Given the description of an element on the screen output the (x, y) to click on. 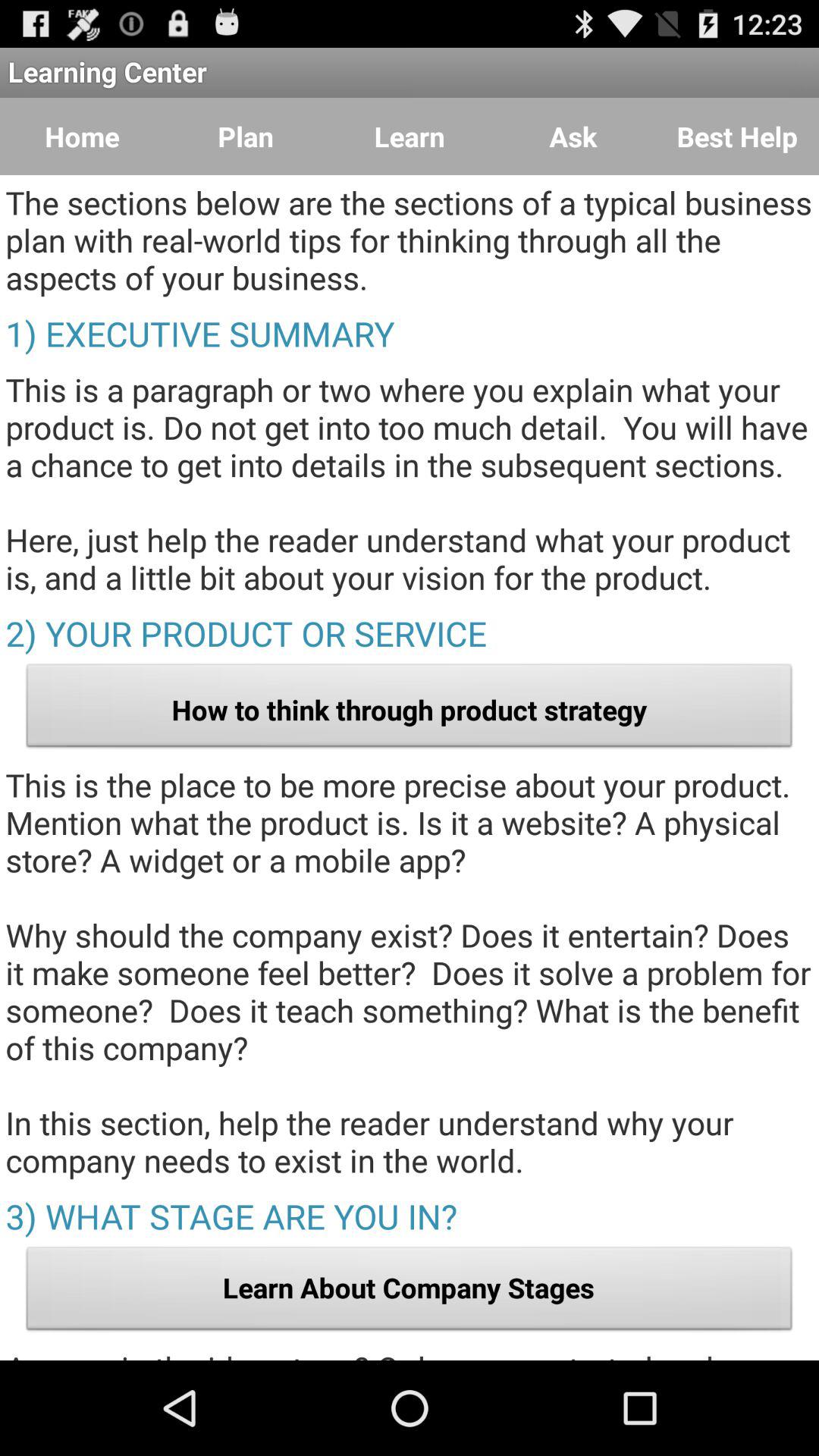
click on the button which is below the your product or service (409, 709)
click on the learn about company stages below what stage are you in (409, 1292)
click on plan which is next to home (245, 135)
click on ask which is next to learn (573, 135)
